Given the description of an element on the screen output the (x, y) to click on. 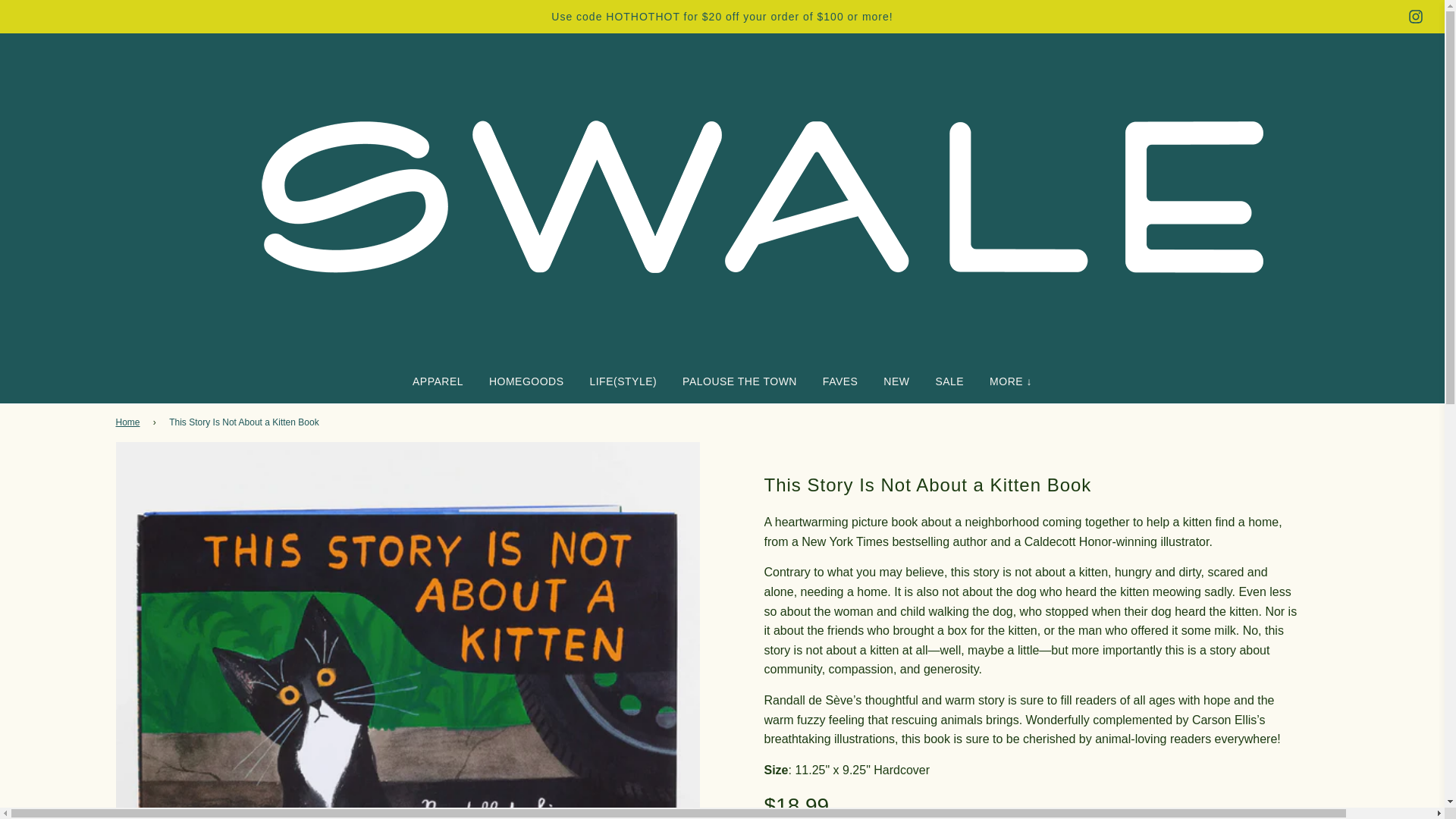
Back to the frontpage (129, 422)
